Given the description of an element on the screen output the (x, y) to click on. 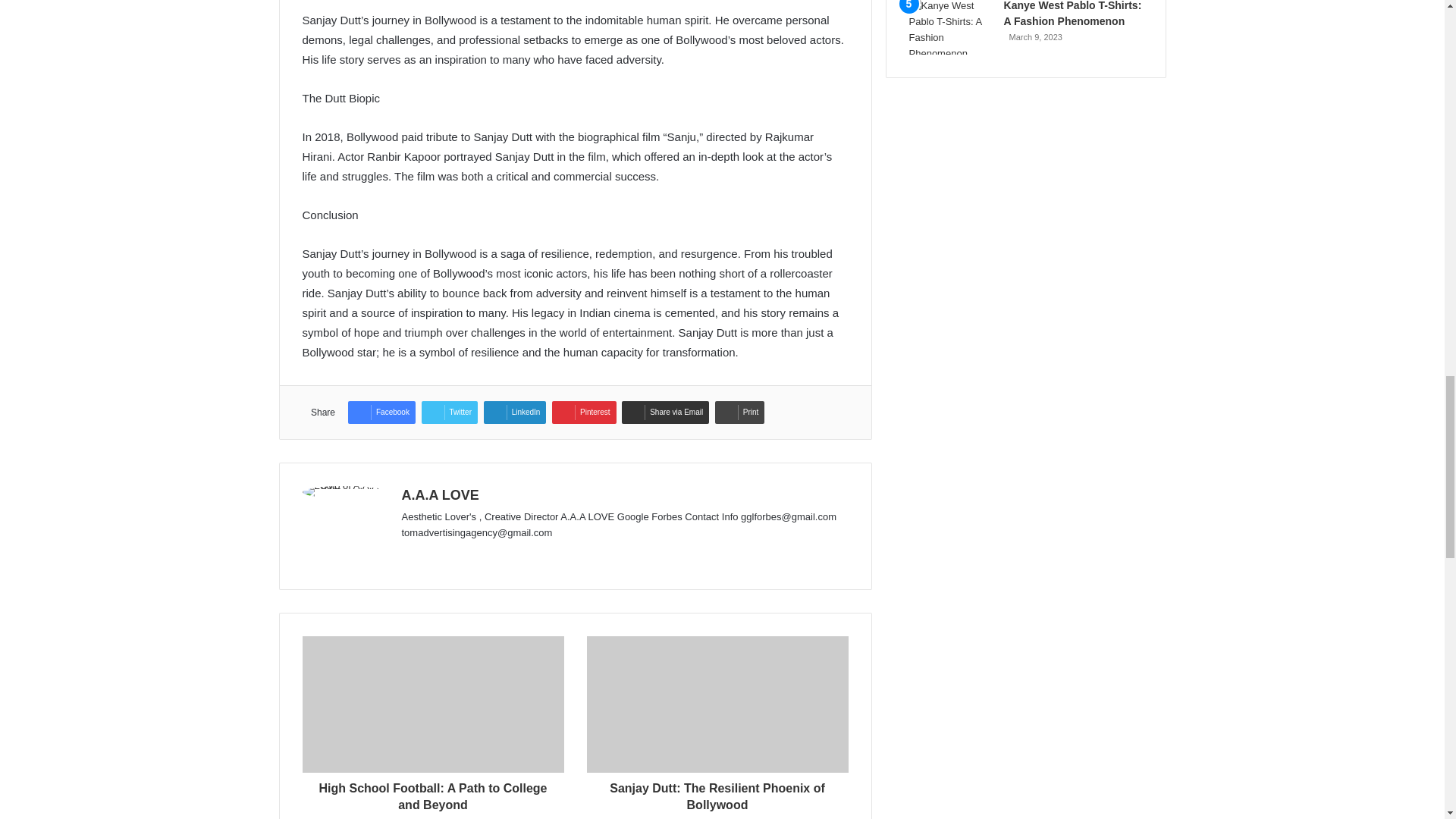
Twitter (449, 412)
Pinterest (583, 412)
LinkedIn (515, 412)
Print (739, 412)
Facebook (380, 412)
Share via Email (665, 412)
